Given the description of an element on the screen output the (x, y) to click on. 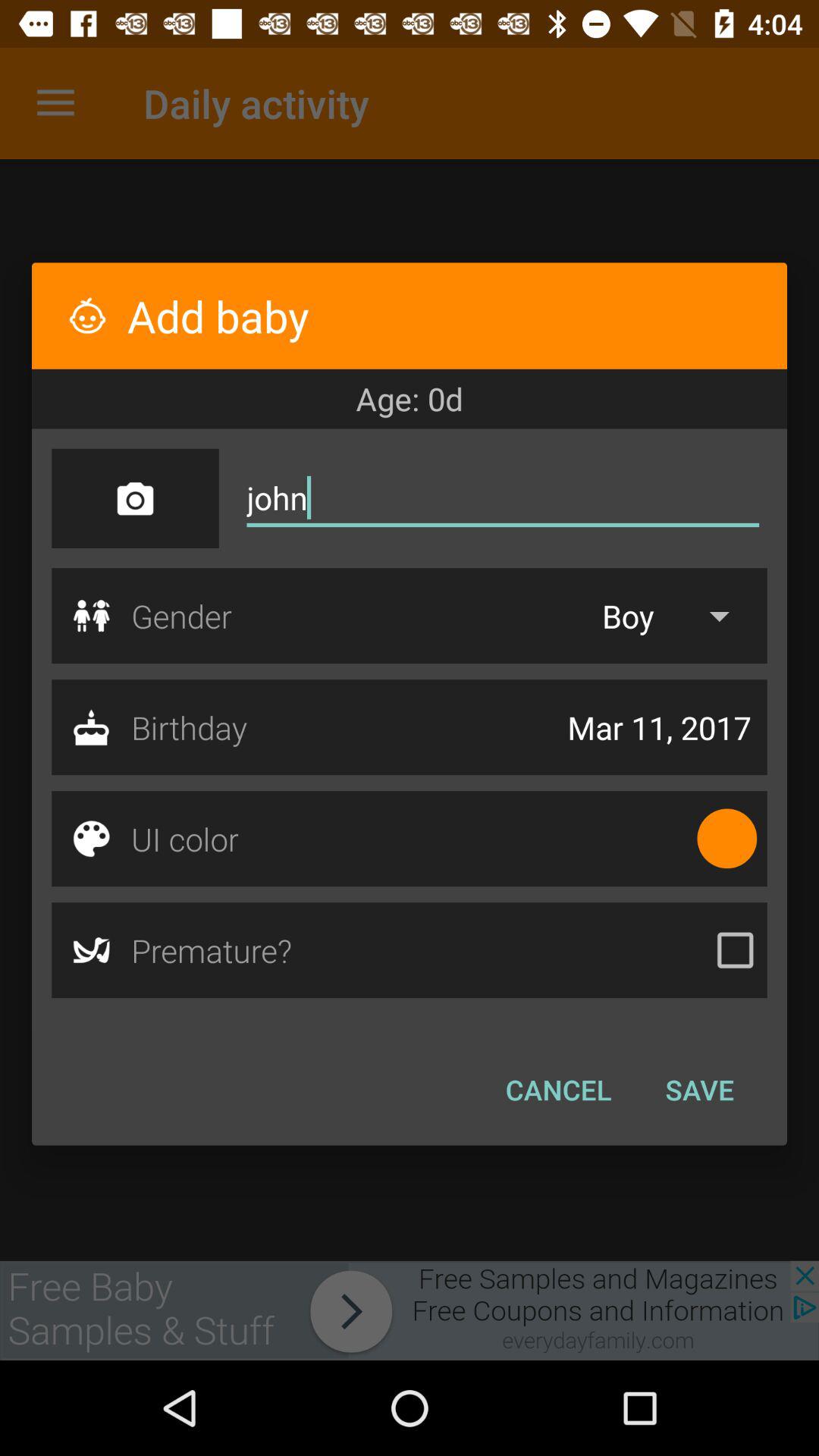
camera to take image (134, 498)
